Given the description of an element on the screen output the (x, y) to click on. 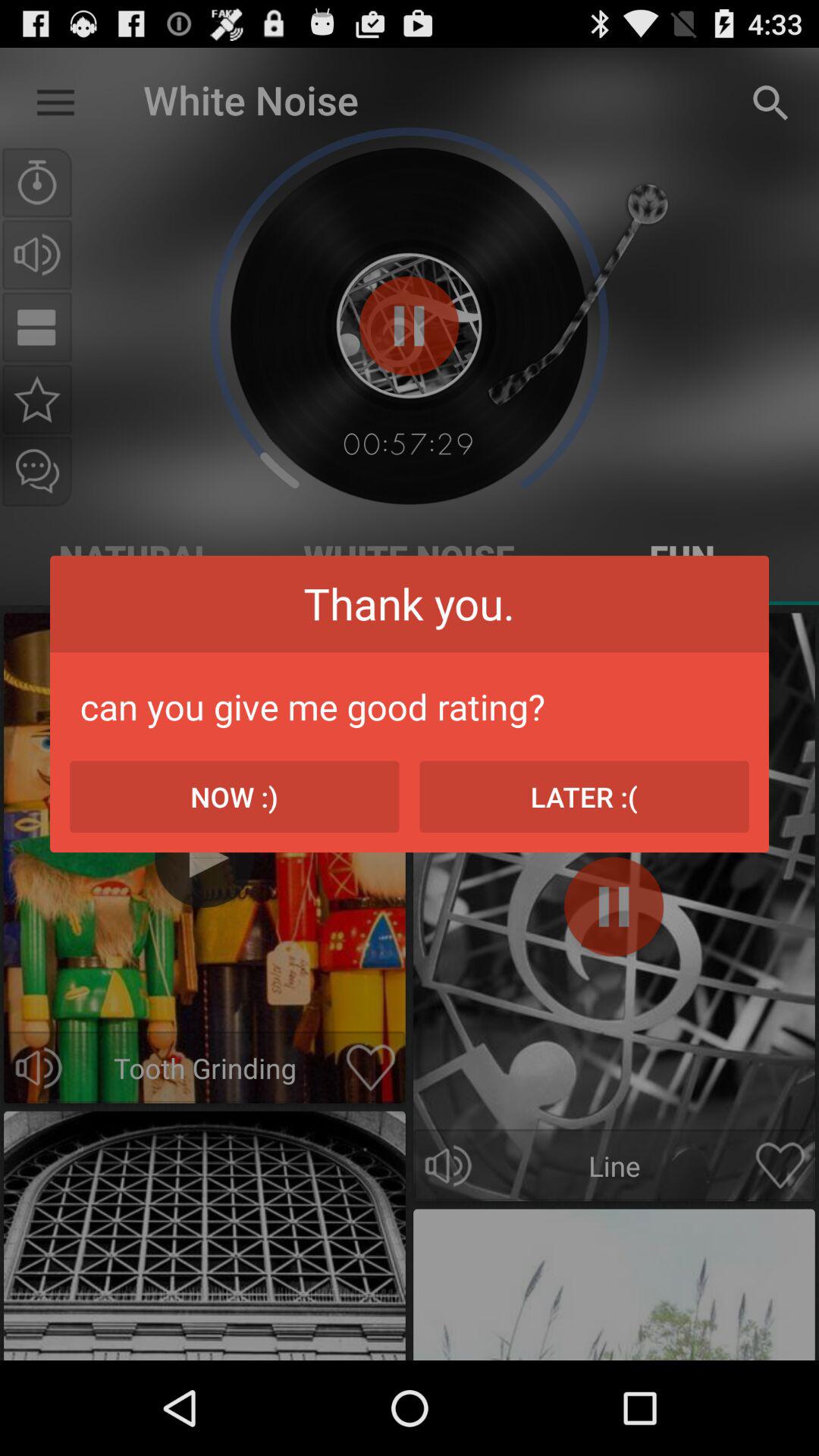
flip until later :( (584, 796)
